Given the description of an element on the screen output the (x, y) to click on. 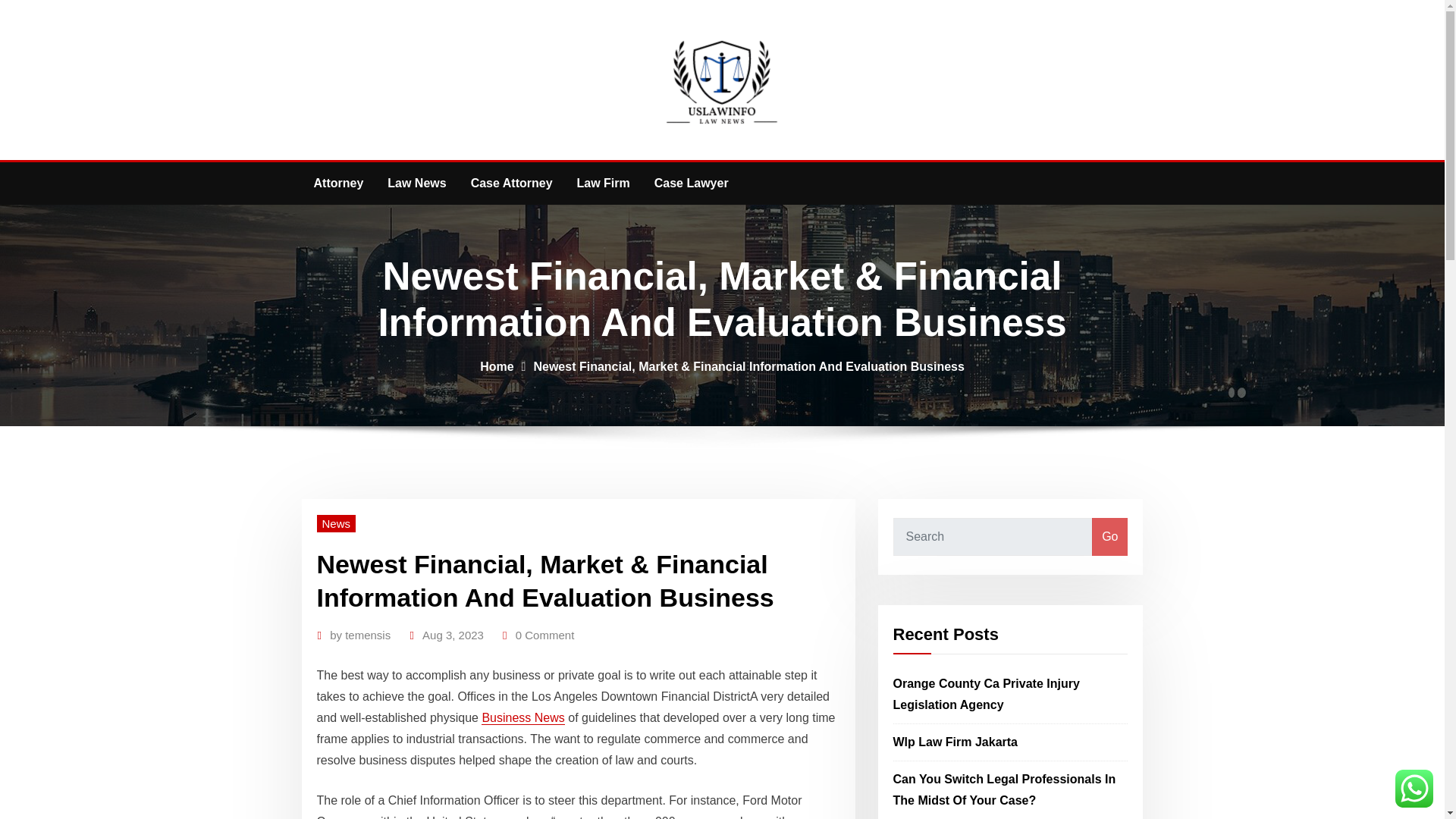
Law Firm (603, 183)
by temensis (360, 635)
Wlp Law Firm Jakarta (955, 741)
0 Comment (545, 635)
Law News (416, 183)
Aug 3, 2023 (452, 635)
Orange County Ca Private Injury Legislation Agency (986, 694)
Attorney (338, 183)
Case Lawyer (691, 183)
